Given the description of an element on the screen output the (x, y) to click on. 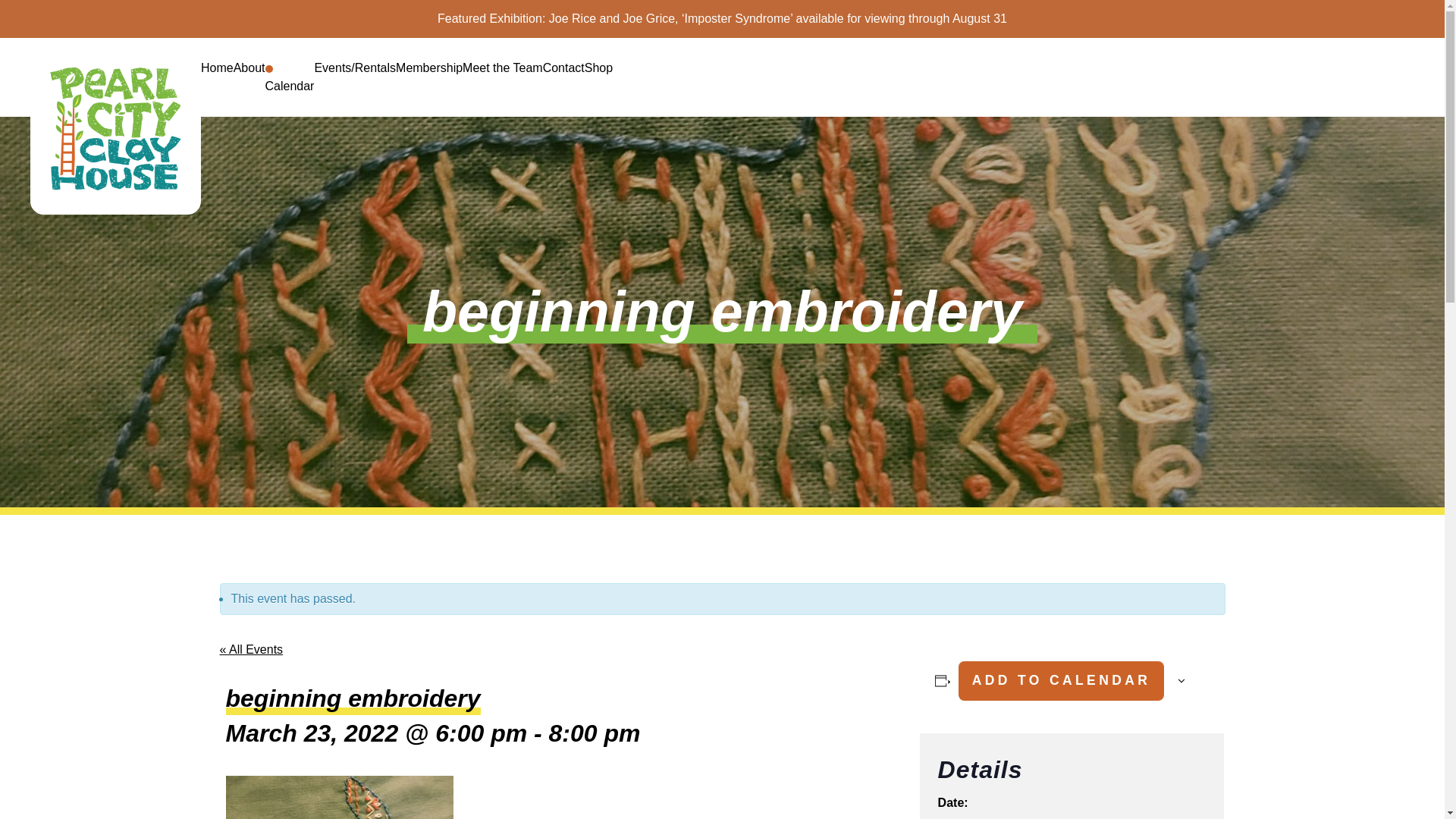
Home (216, 67)
2022-03-23 (979, 818)
Contact (564, 67)
Calendar (289, 85)
ADD TO CALENDAR (1060, 680)
Shop (598, 67)
Membership (429, 67)
About (248, 67)
Meet the Team (503, 67)
